Given the description of an element on the screen output the (x, y) to click on. 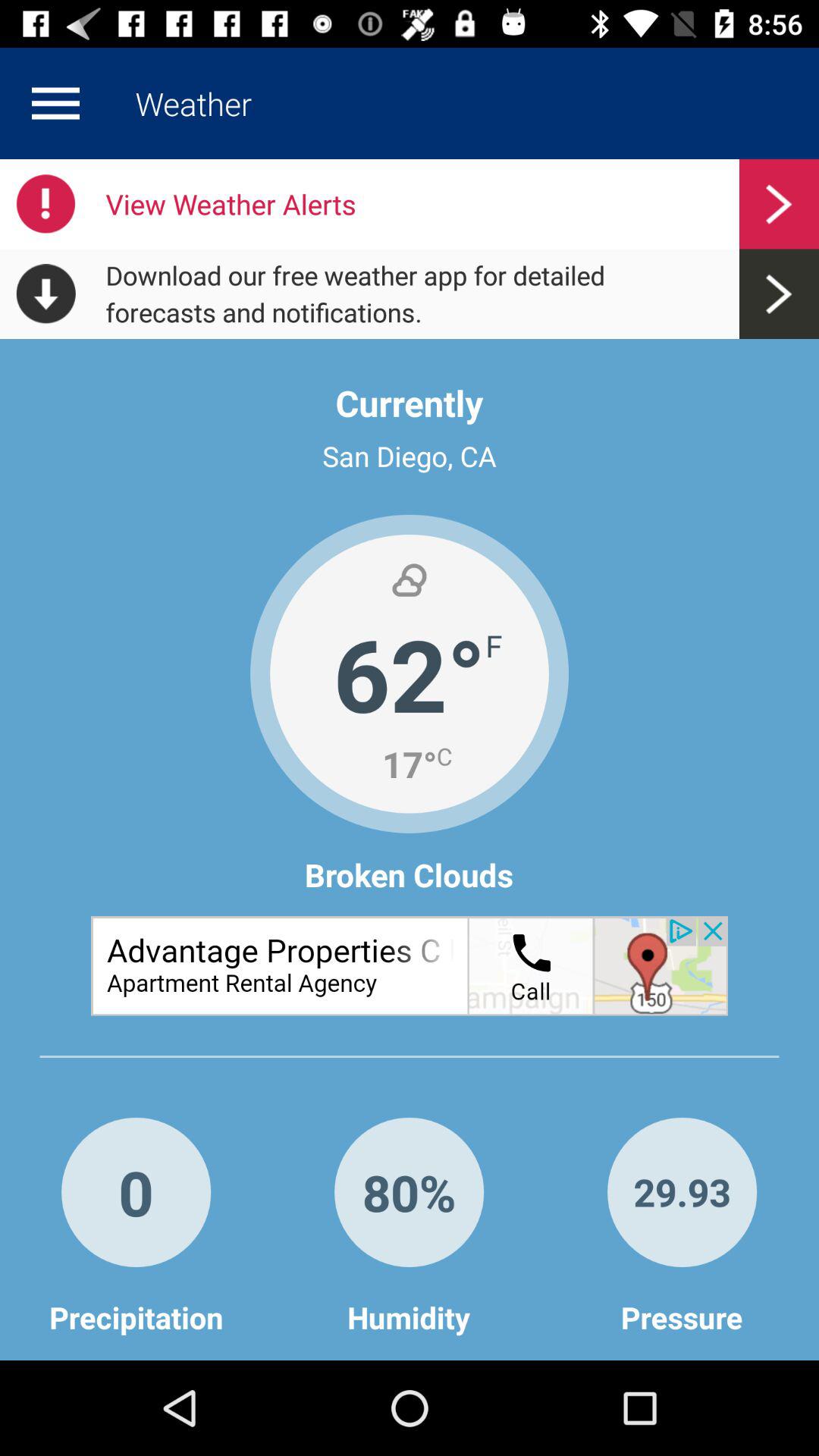
main menu (55, 103)
